Given the description of an element on the screen output the (x, y) to click on. 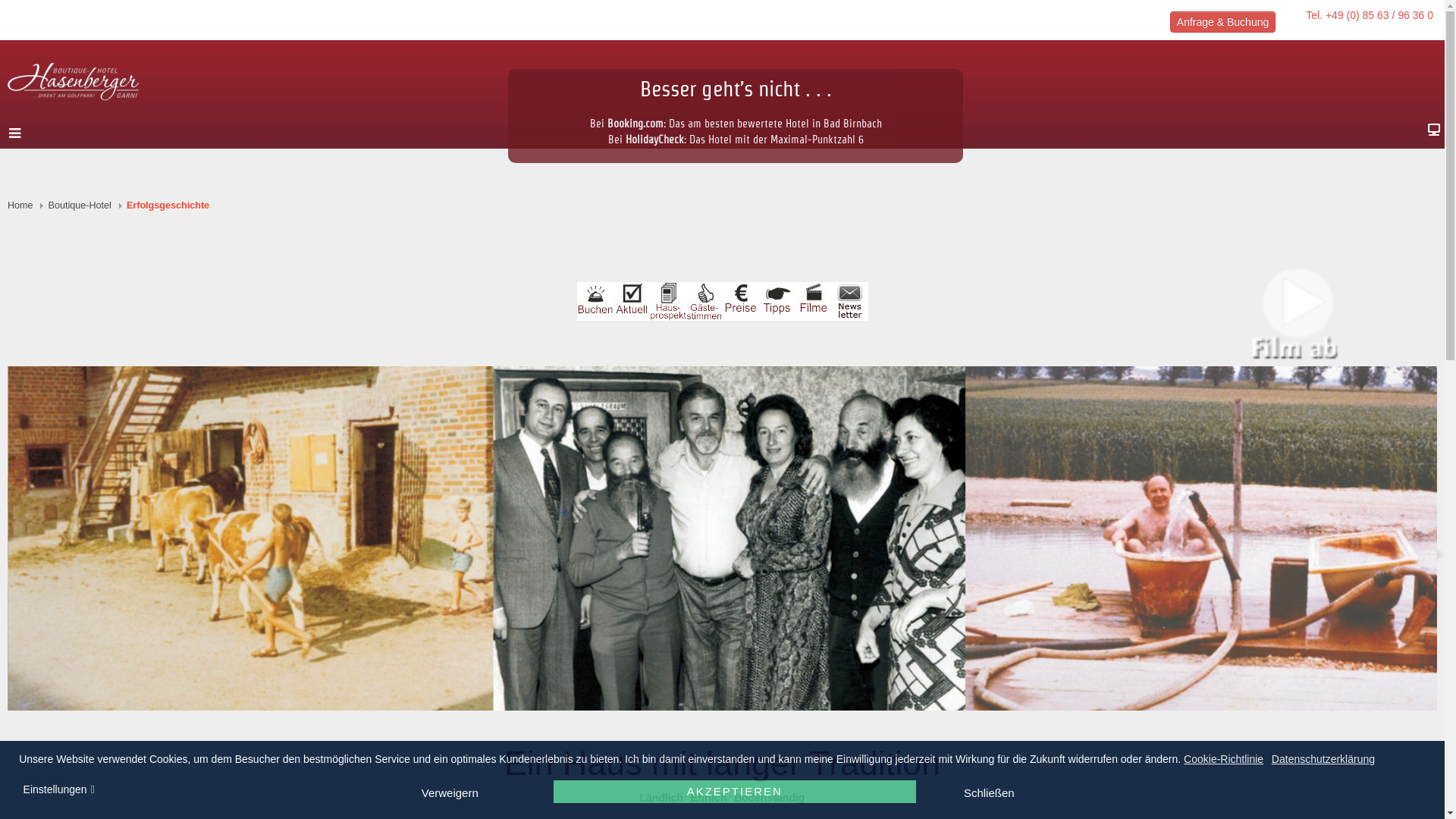
Verweigern Element type: text (449, 792)
Booking.com Element type: text (634, 123)
AKZEPTIEREN Element type: text (734, 791)
Tel. +49 (0) 85 63 / 96 36 0 Element type: text (1369, 15)
Anfrage & Buchung Element type: text (1222, 21)
Cookie-Richtlinie Element type: text (1224, 758)
HolidayCheck Element type: text (653, 139)
Home Element type: text (20, 205)
Boutique-Hotel Element type: text (79, 205)
